Given the description of an element on the screen output the (x, y) to click on. 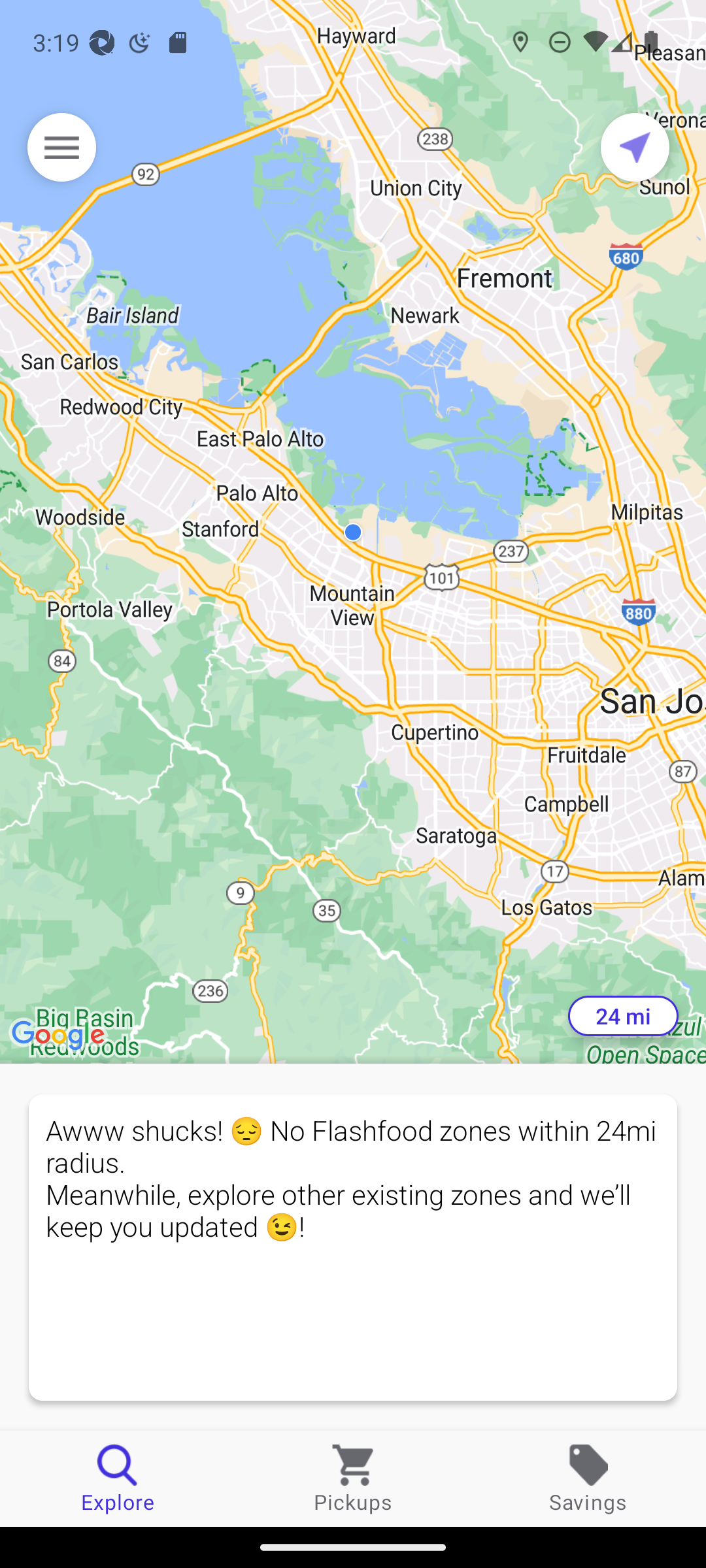
Menu (61, 146)
Current location (634, 146)
24 mi (623, 1015)
Pickups (352, 1478)
Savings (588, 1478)
